Given the description of an element on the screen output the (x, y) to click on. 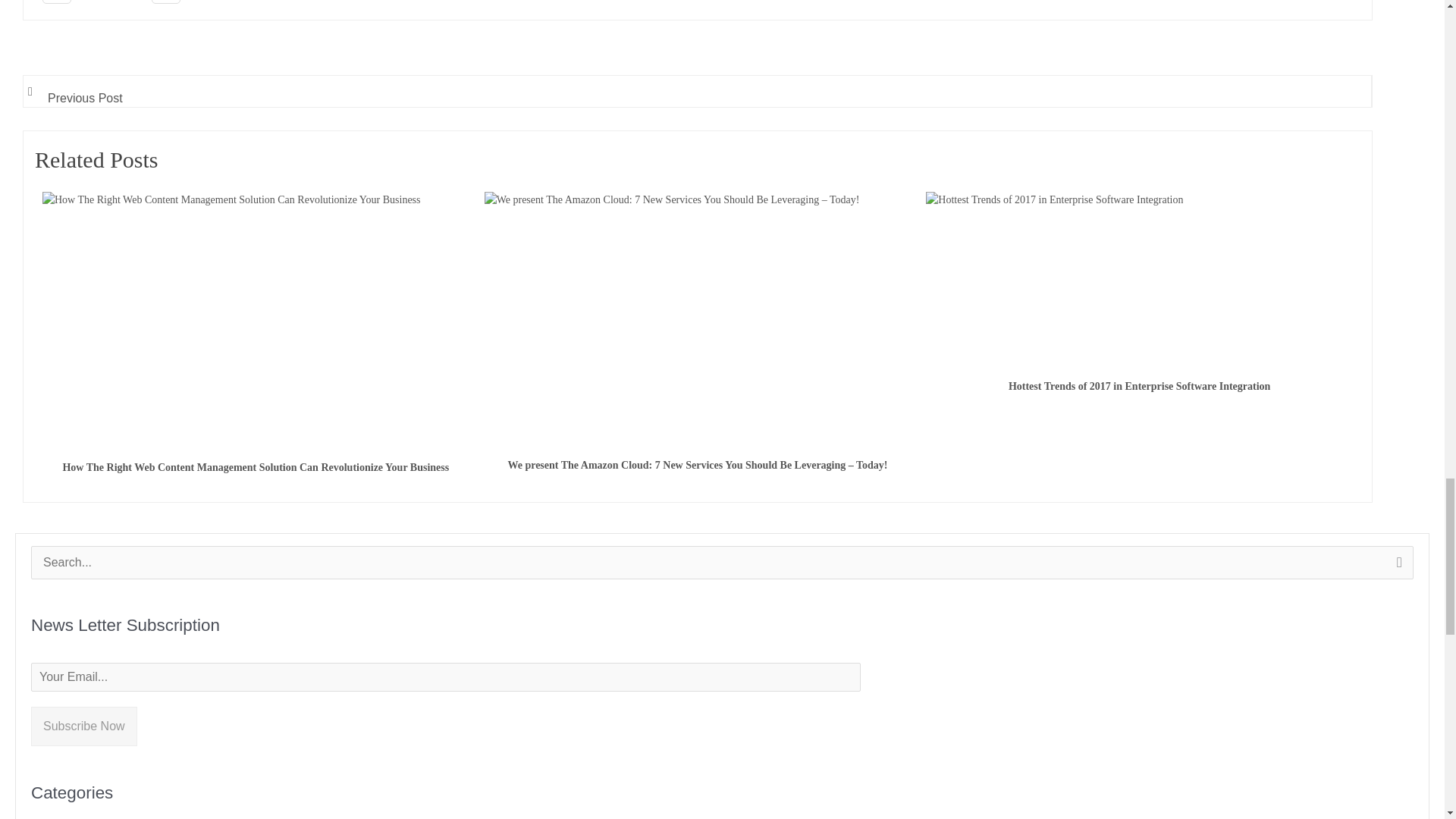
Search (1395, 567)
Search (1395, 567)
Hottest Trends of 2017 in Enterprise Software Integration (1054, 277)
